Given the description of an element on the screen output the (x, y) to click on. 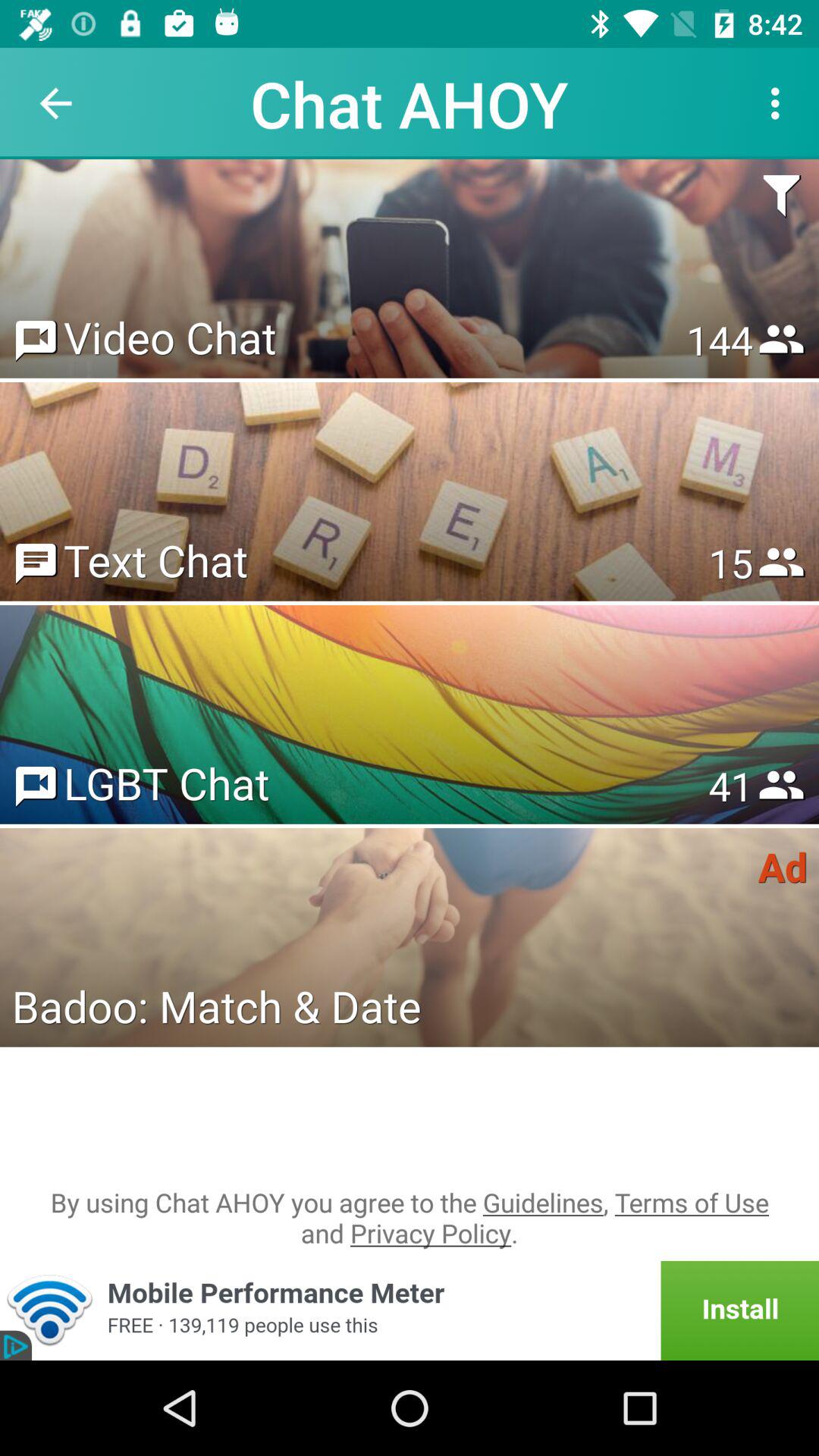
turn on the icon to the right of lgbt chat icon (730, 785)
